Given the description of an element on the screen output the (x, y) to click on. 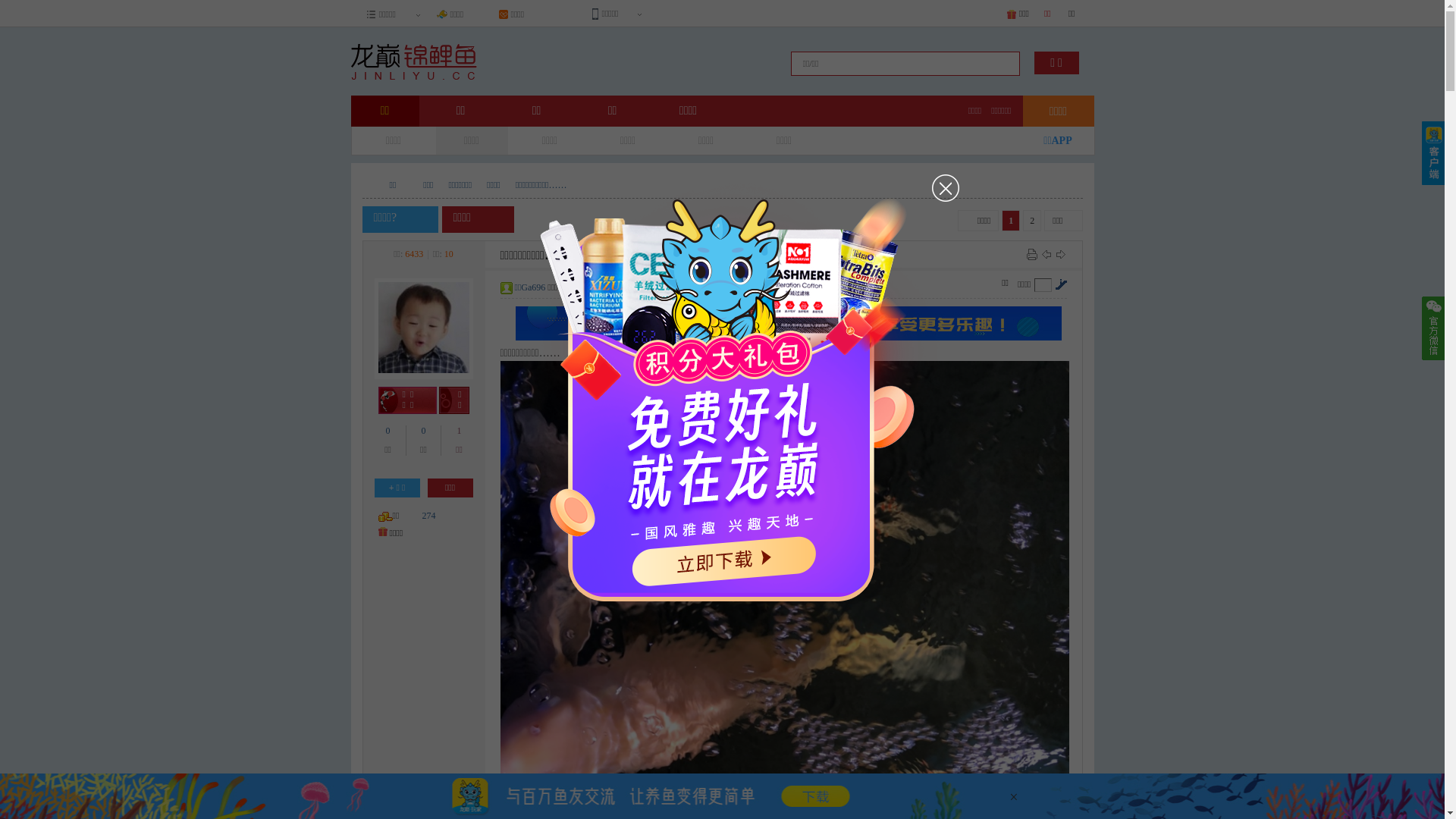
0 Element type: text (387, 430)
274 Element type: text (428, 515)
1 Element type: text (458, 430)
2 Element type: text (1031, 220)
0 Element type: text (422, 430)
